Given the description of an element on the screen output the (x, y) to click on. 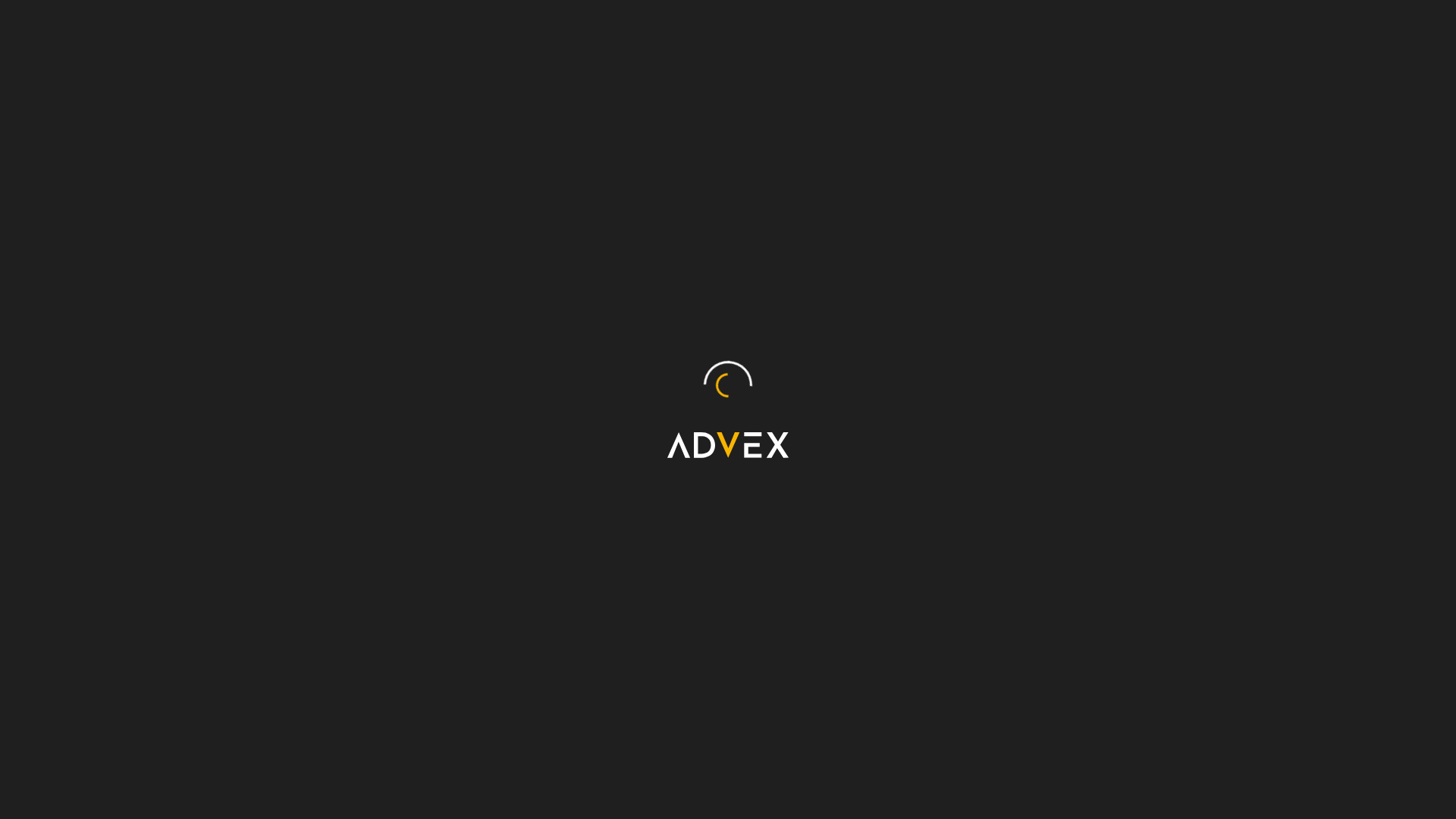
Contact Element type: text (1169, 54)
Services Element type: text (774, 55)
